Given the description of an element on the screen output the (x, y) to click on. 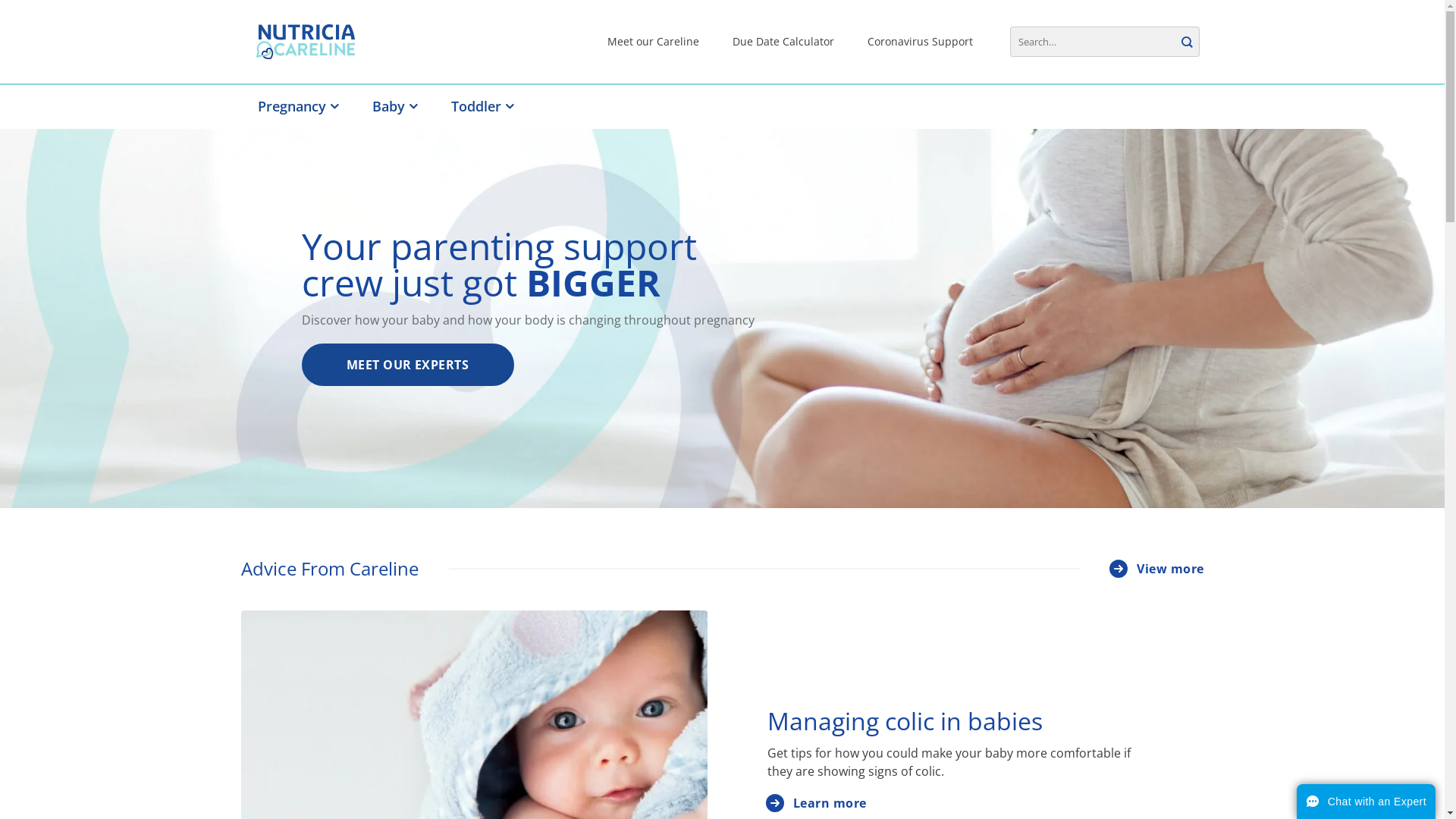
Learn more Element type: text (816, 807)
Meet our Careline Element type: text (653, 41)
MEET OUR EXPERTS Element type: text (407, 363)
Toddler Element type: text (481, 106)
Due Date Calculator Element type: text (783, 41)
Pregnancy Element type: text (297, 106)
View more Element type: text (1141, 569)
Search Element type: text (1186, 41)
Coronavirus Support Element type: text (919, 41)
Baby Element type: text (394, 106)
